Given the description of an element on the screen output the (x, y) to click on. 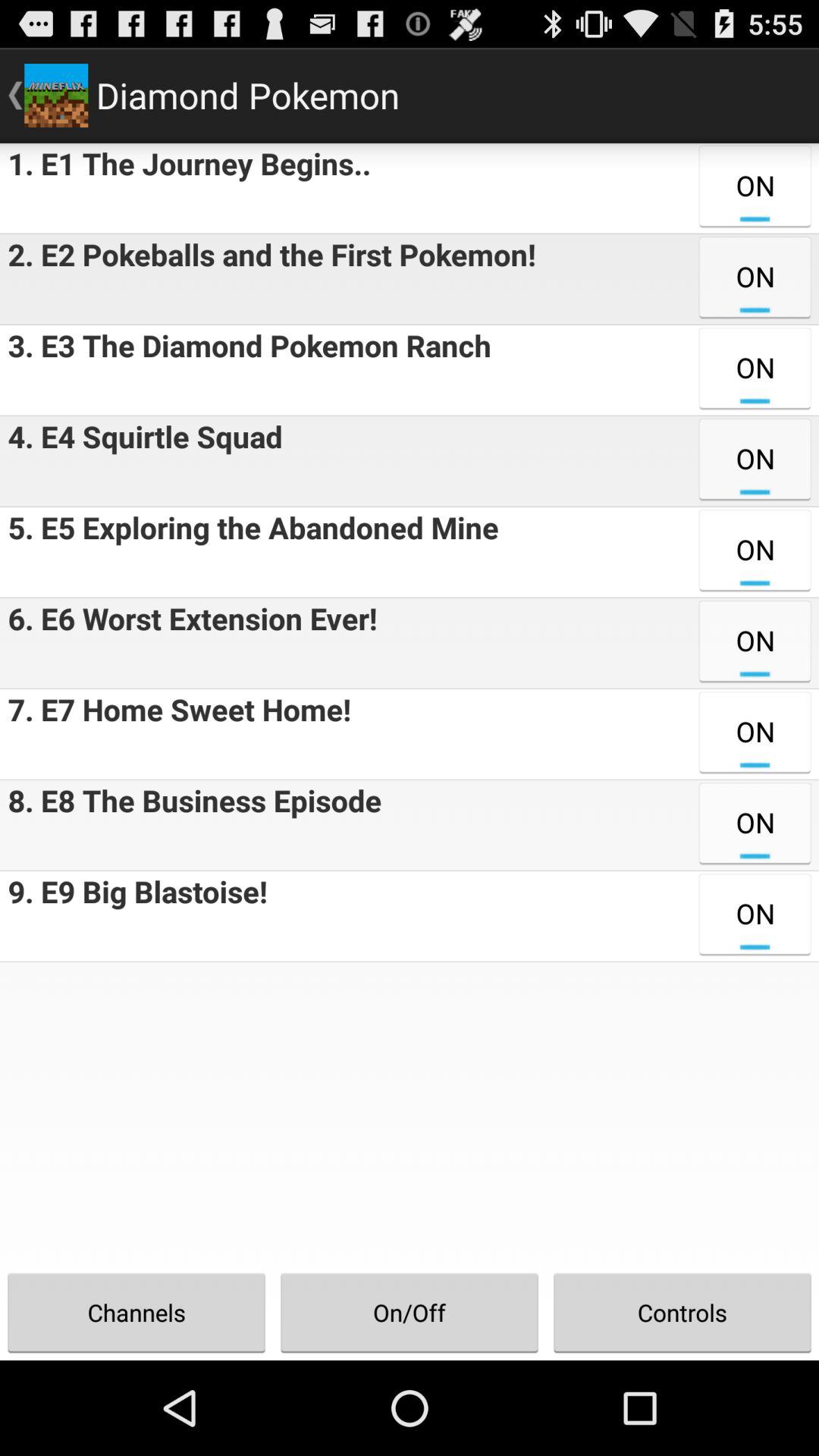
launch 7 e7 home item (175, 734)
